Given the description of an element on the screen output the (x, y) to click on. 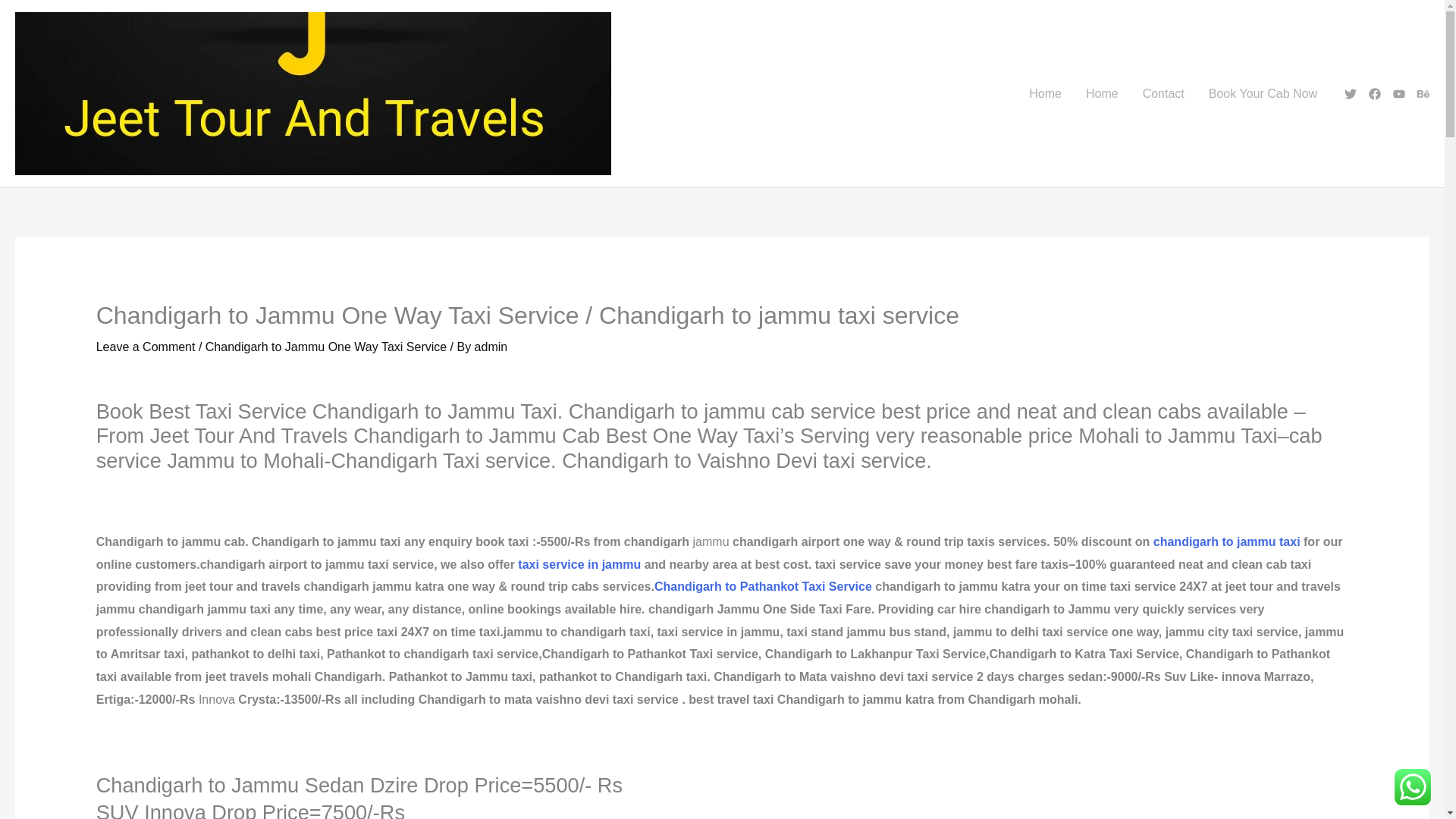
Chandigarh to Jammu One Way Taxi Service (325, 346)
Leave a Comment (145, 346)
jammu (623, 563)
taxi service (550, 563)
chandigarh to jammu taxi (1226, 541)
in (593, 563)
Book Your Cab Now (1262, 92)
Contact (1163, 92)
admin (491, 346)
Chandigarh to Pathankot Taxi Service (762, 585)
